Given the description of an element on the screen output the (x, y) to click on. 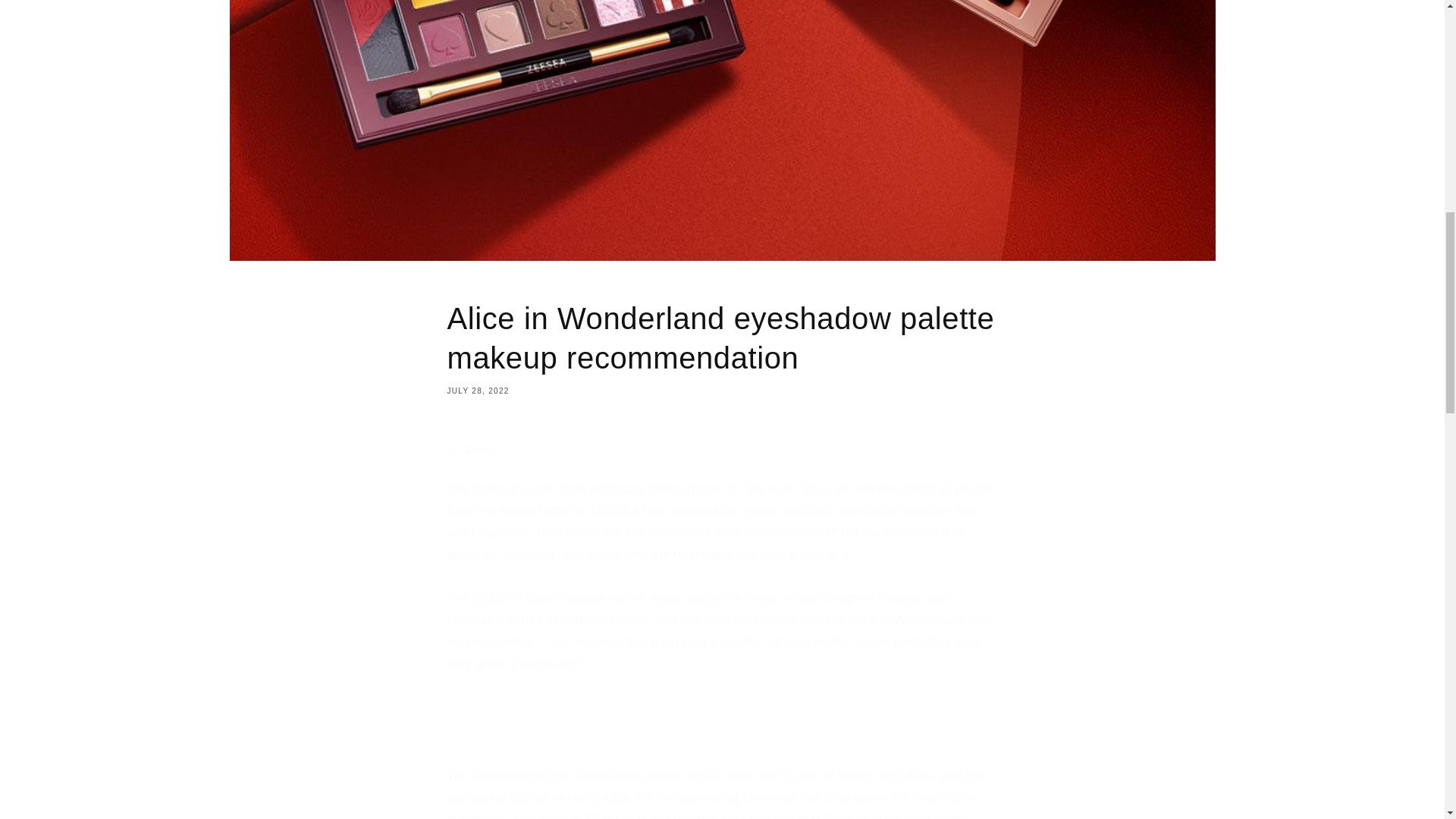
Share (721, 450)
